Given the description of an element on the screen output the (x, y) to click on. 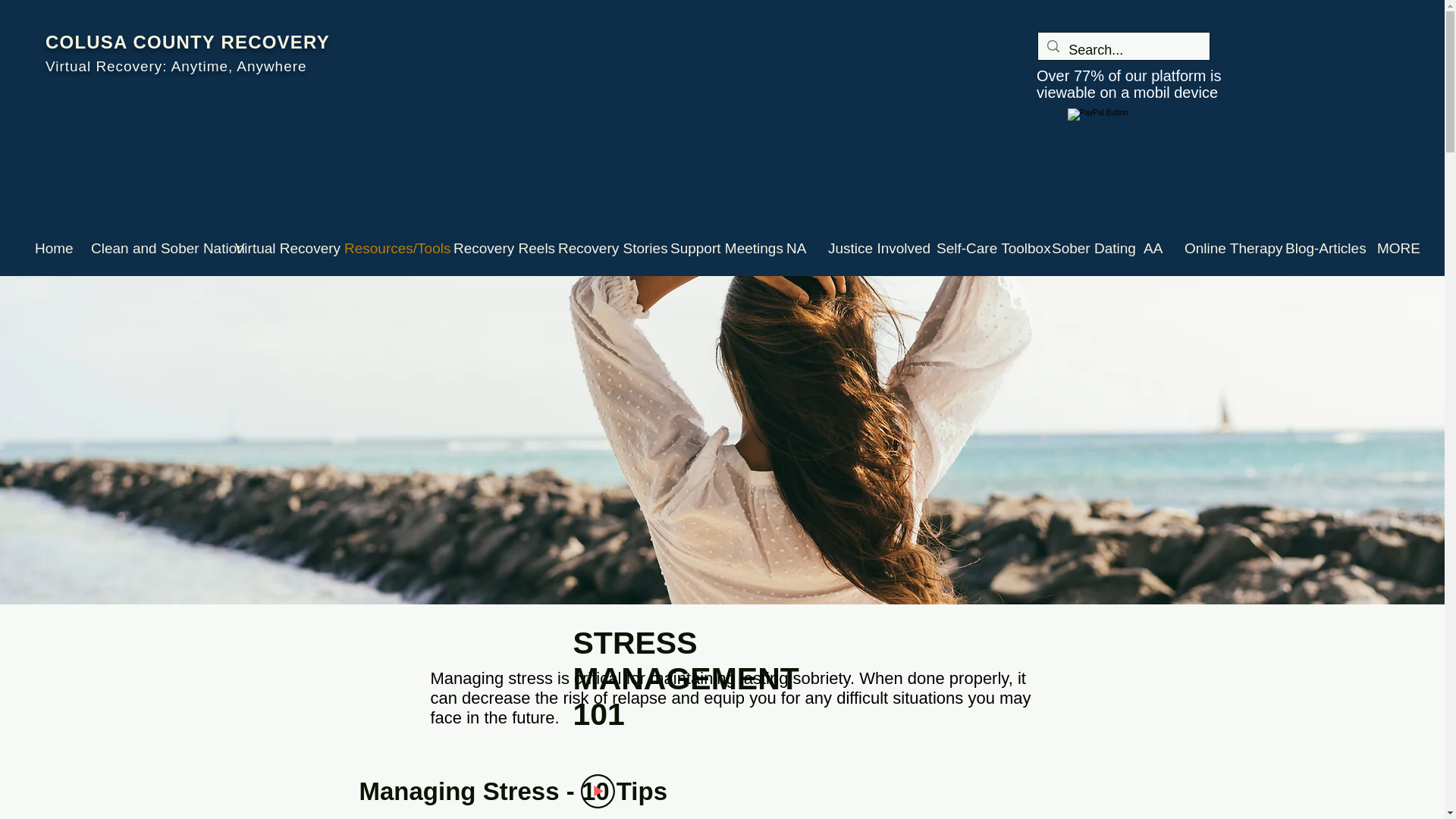
Recovery Reels (494, 248)
Virtual Recovery (278, 248)
Support Meetings (716, 248)
Home (51, 248)
Recovery Stories (603, 248)
Clean and Sober Nation (152, 248)
